Given the description of an element on the screen output the (x, y) to click on. 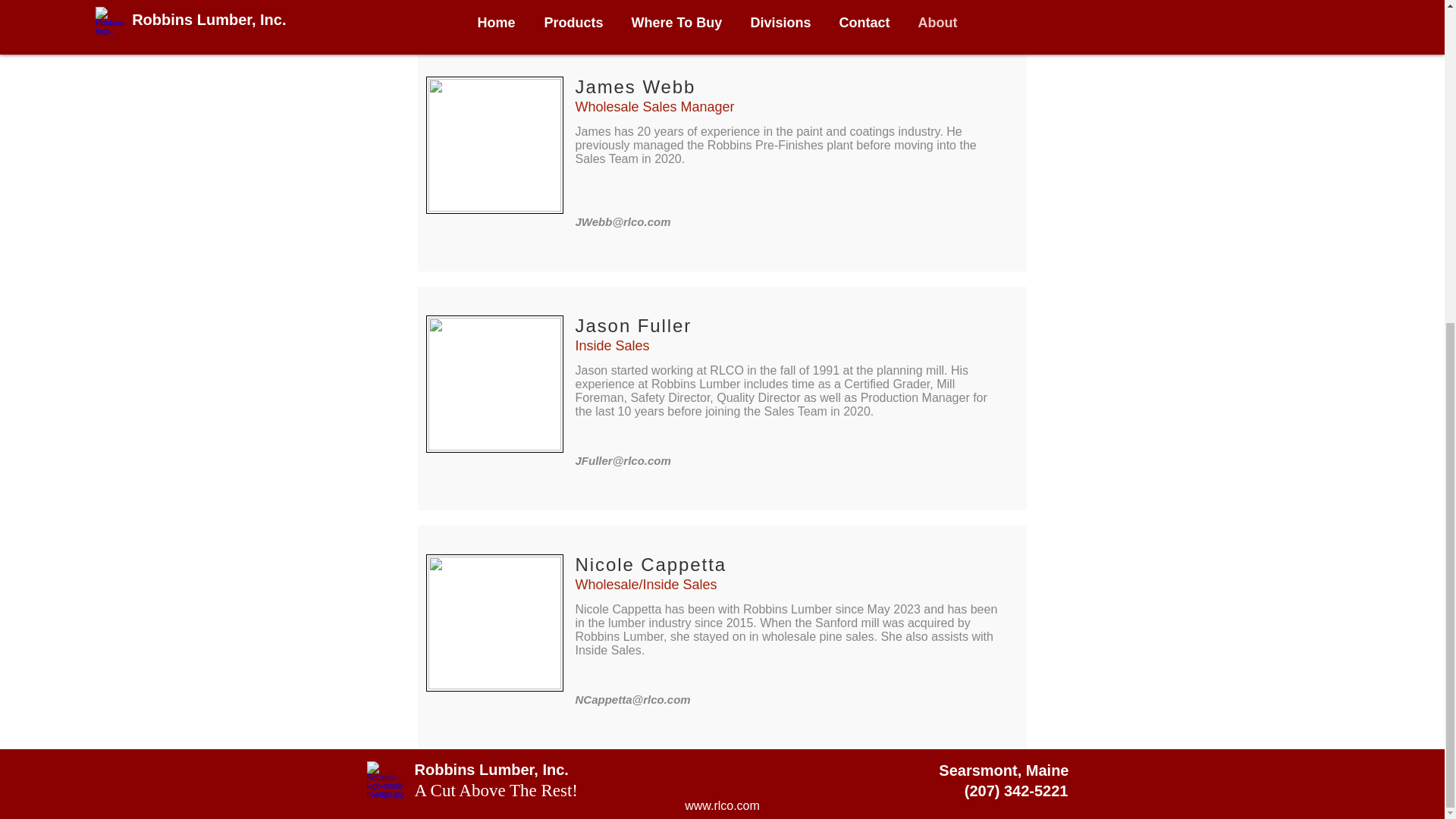
www.rlco.com (722, 805)
NICOLEPHOTO.JPG (494, 622)
